Given the description of an element on the screen output the (x, y) to click on. 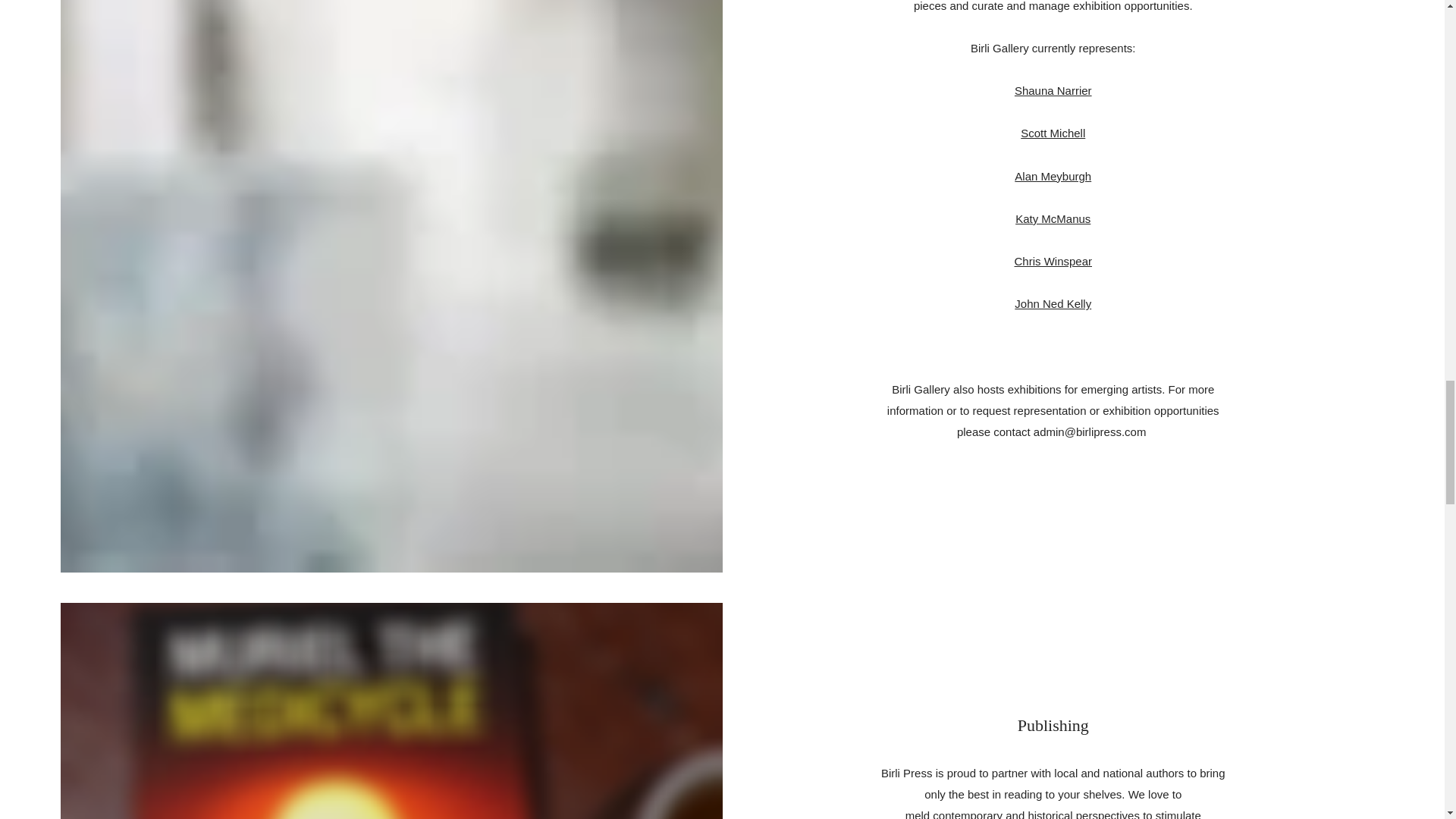
Chris Winspear (1052, 260)
Alan Meyburgh (1052, 175)
Scott Michell (1052, 132)
Shauna Narrier (1053, 90)
Katy McManus (1052, 218)
John Ned Kelly (1052, 303)
